Given the description of an element on the screen output the (x, y) to click on. 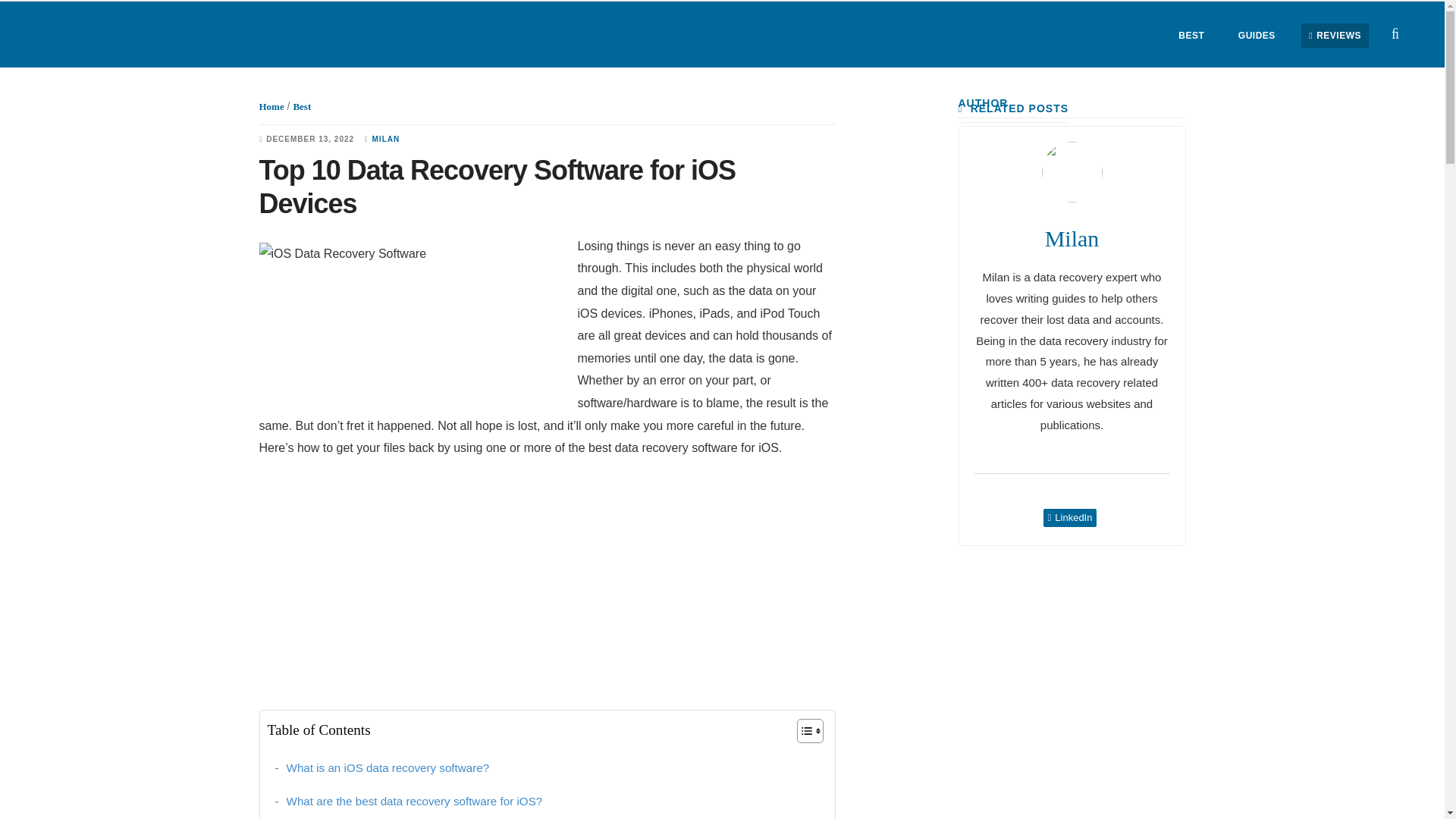
REVIEWS (1334, 35)
BEST (1190, 35)
LinkedIn (1070, 517)
What are the best data recovery software for iOS? (408, 801)
Milan (1072, 238)
LinkedIn (1070, 517)
What is an iOS data recovery software? (382, 768)
GUIDES (1256, 35)
